Given the description of an element on the screen output the (x, y) to click on. 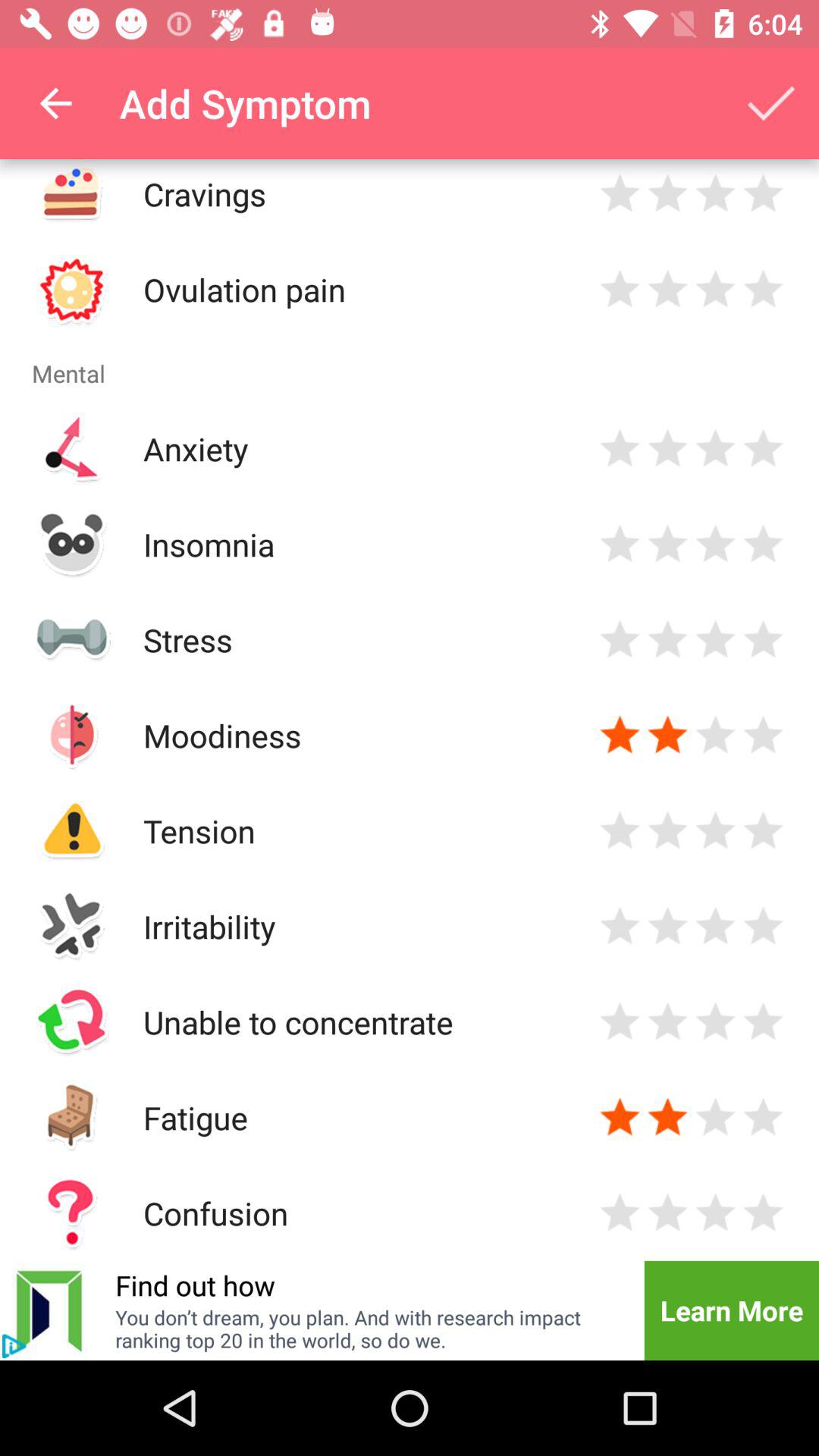
give one star rate (619, 193)
